Given the description of an element on the screen output the (x, y) to click on. 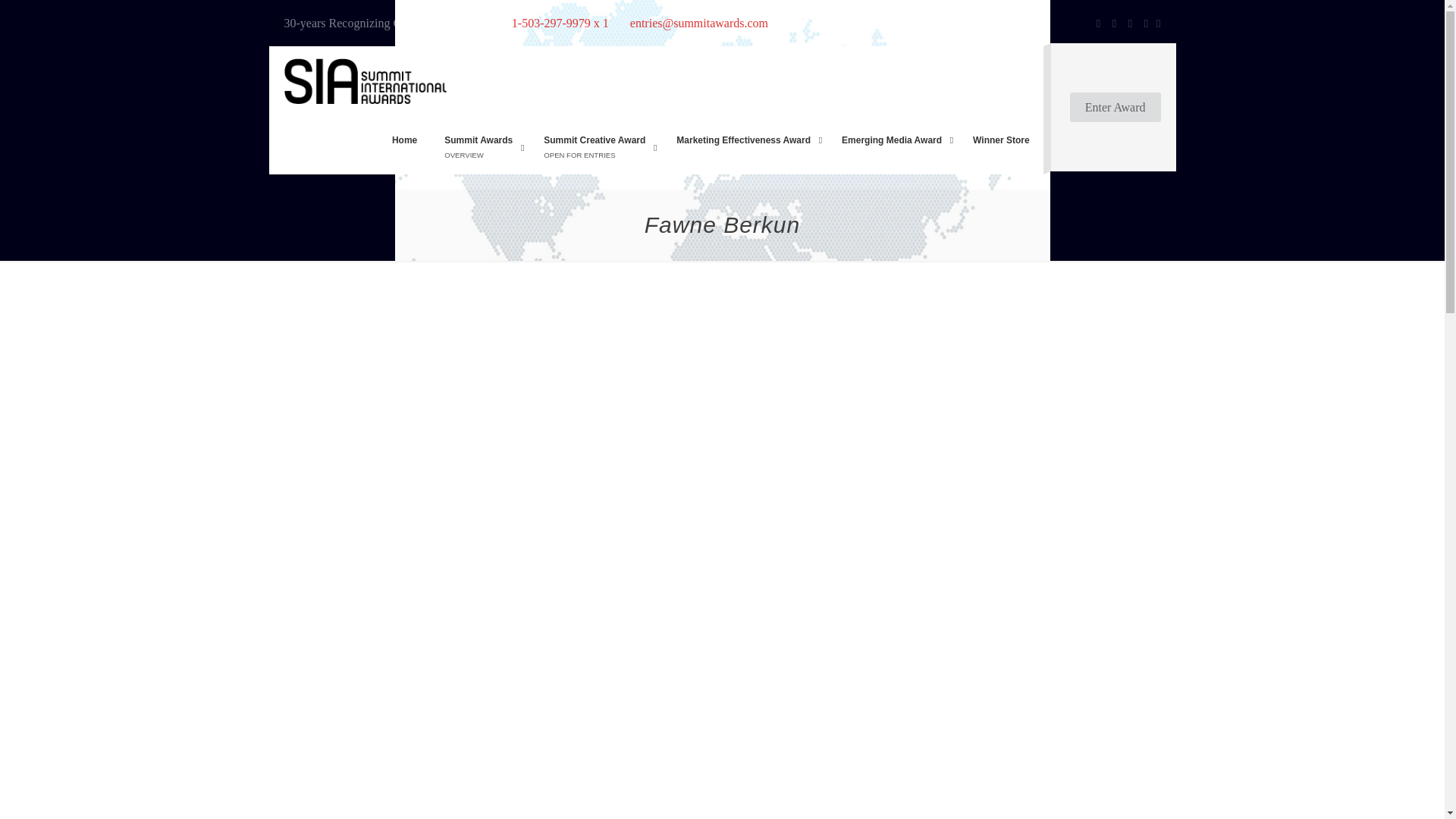
YouTube (1129, 23)
LinkedIn (1145, 23)
Home (404, 139)
1-503-297-9979 x 1 (560, 22)
Marketing Effectiveness Award (745, 139)
Summit Awards (364, 79)
Facebook (1098, 23)
